Given the description of an element on the screen output the (x, y) to click on. 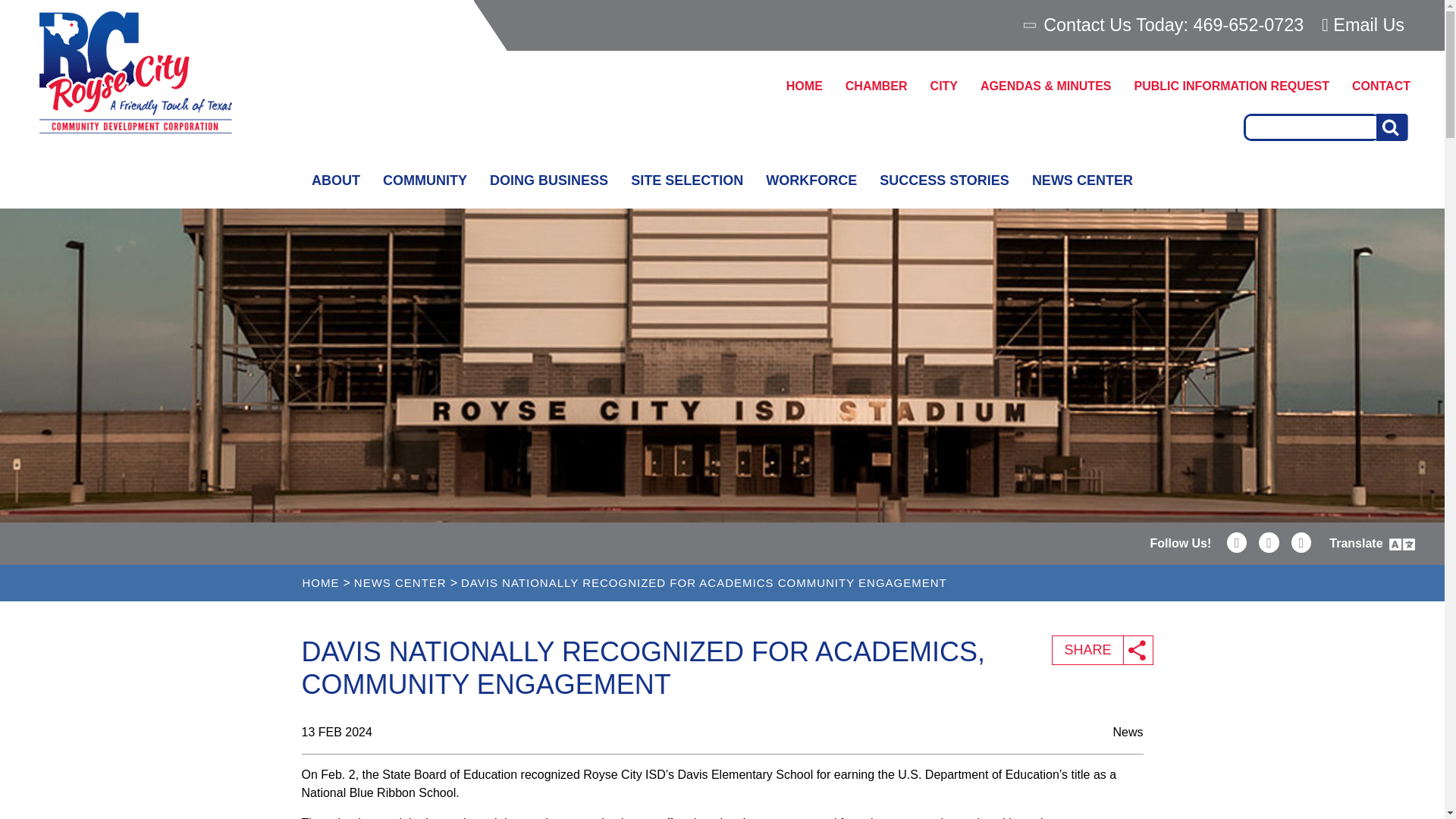
CONTACT (1381, 85)
CITY (944, 85)
Contact Us Today: 469-652-0723 (1164, 25)
Linkedin (1237, 542)
CHAMBER (876, 85)
PUBLIC INFORMATION REQUEST (1230, 85)
HOME (804, 85)
Nextdoor (1301, 542)
Email Us (1363, 24)
Facebook (1269, 542)
